Given the description of an element on the screen output the (x, y) to click on. 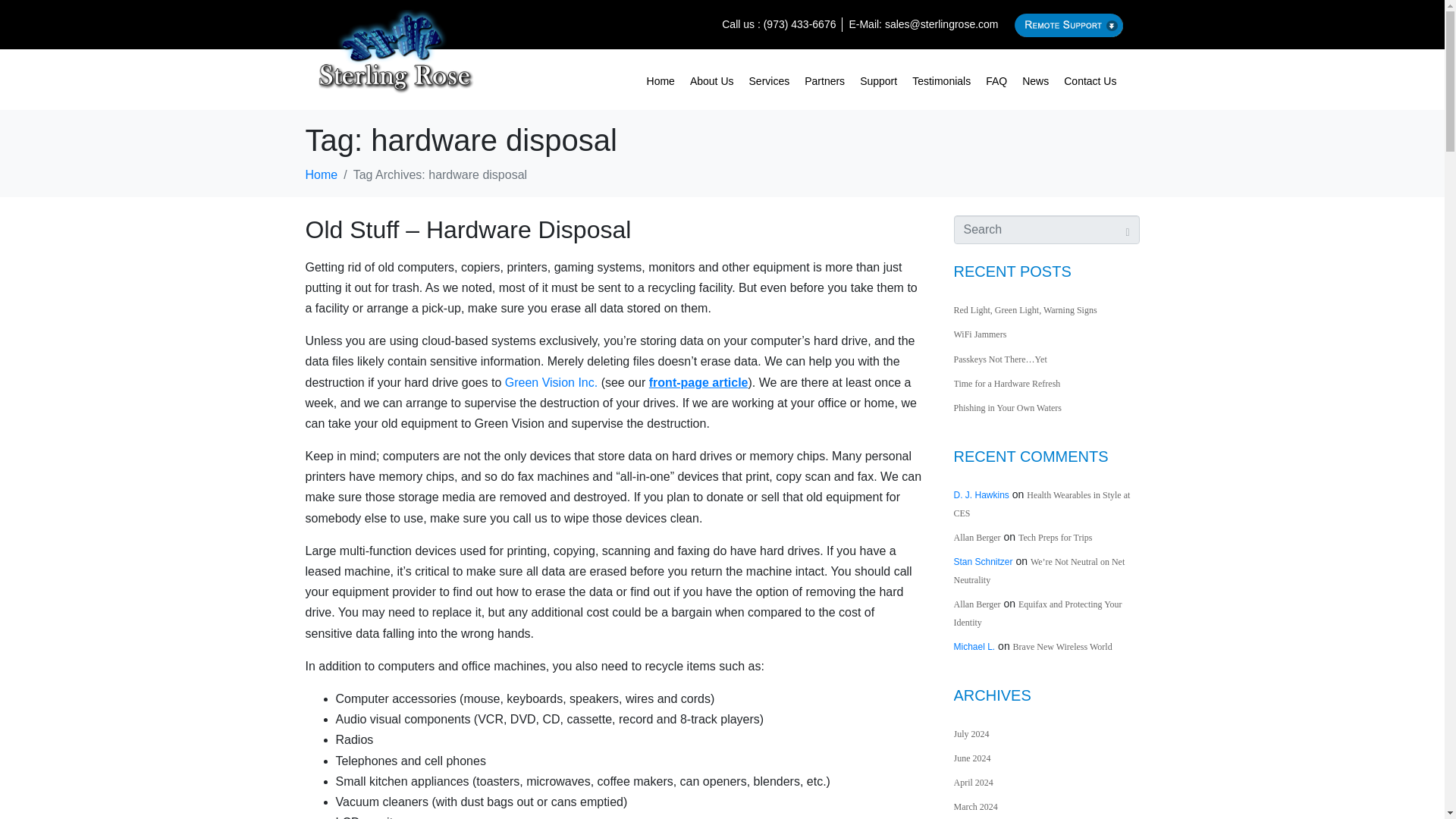
Home (660, 79)
Partners (823, 79)
News (1035, 79)
Contact Us (1090, 79)
Support (877, 79)
About Us (711, 79)
Testimonials (941, 79)
Services (769, 79)
FAQ (996, 79)
